Given the description of an element on the screen output the (x, y) to click on. 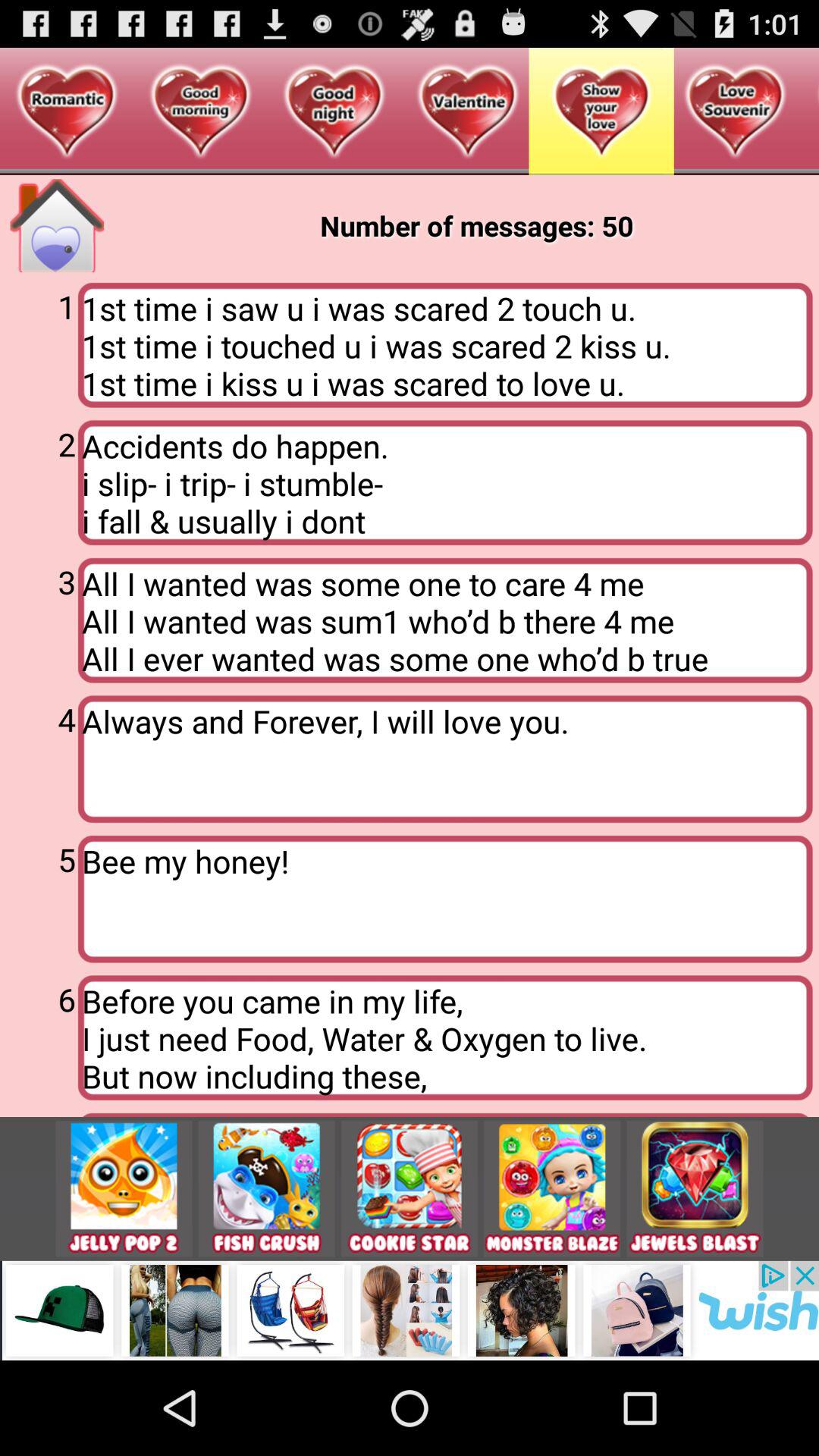
click to the app (552, 1188)
